Given the description of an element on the screen output the (x, y) to click on. 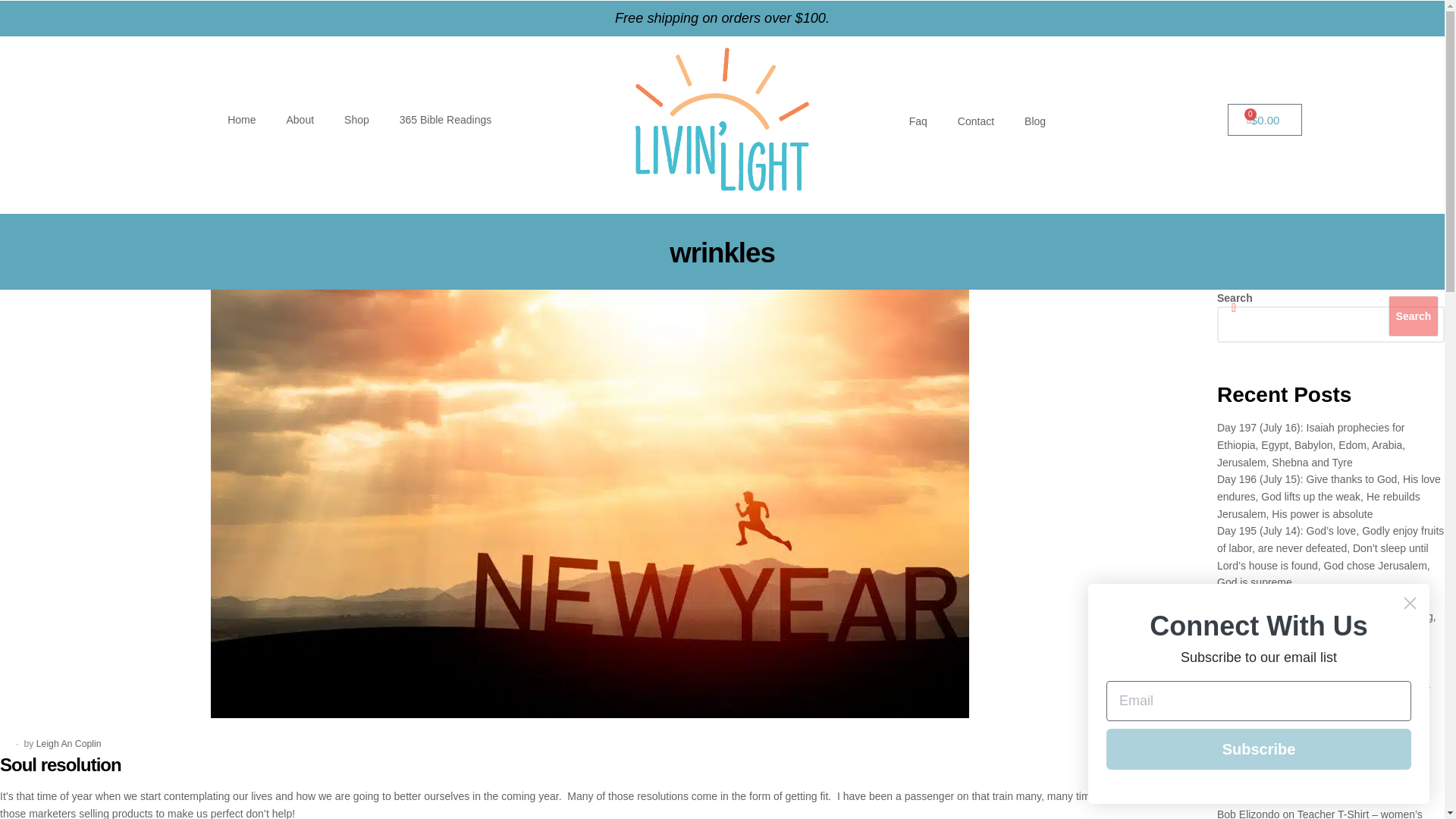
Contact (975, 121)
Home (241, 119)
365 Bible Readings (445, 119)
Soul resolution (60, 764)
Blog (1035, 121)
Search (1413, 316)
Shop (356, 119)
Bob Elizondo (1248, 813)
About (299, 119)
Leigh An Coplin (68, 743)
Faq (917, 121)
